Given the description of an element on the screen output the (x, y) to click on. 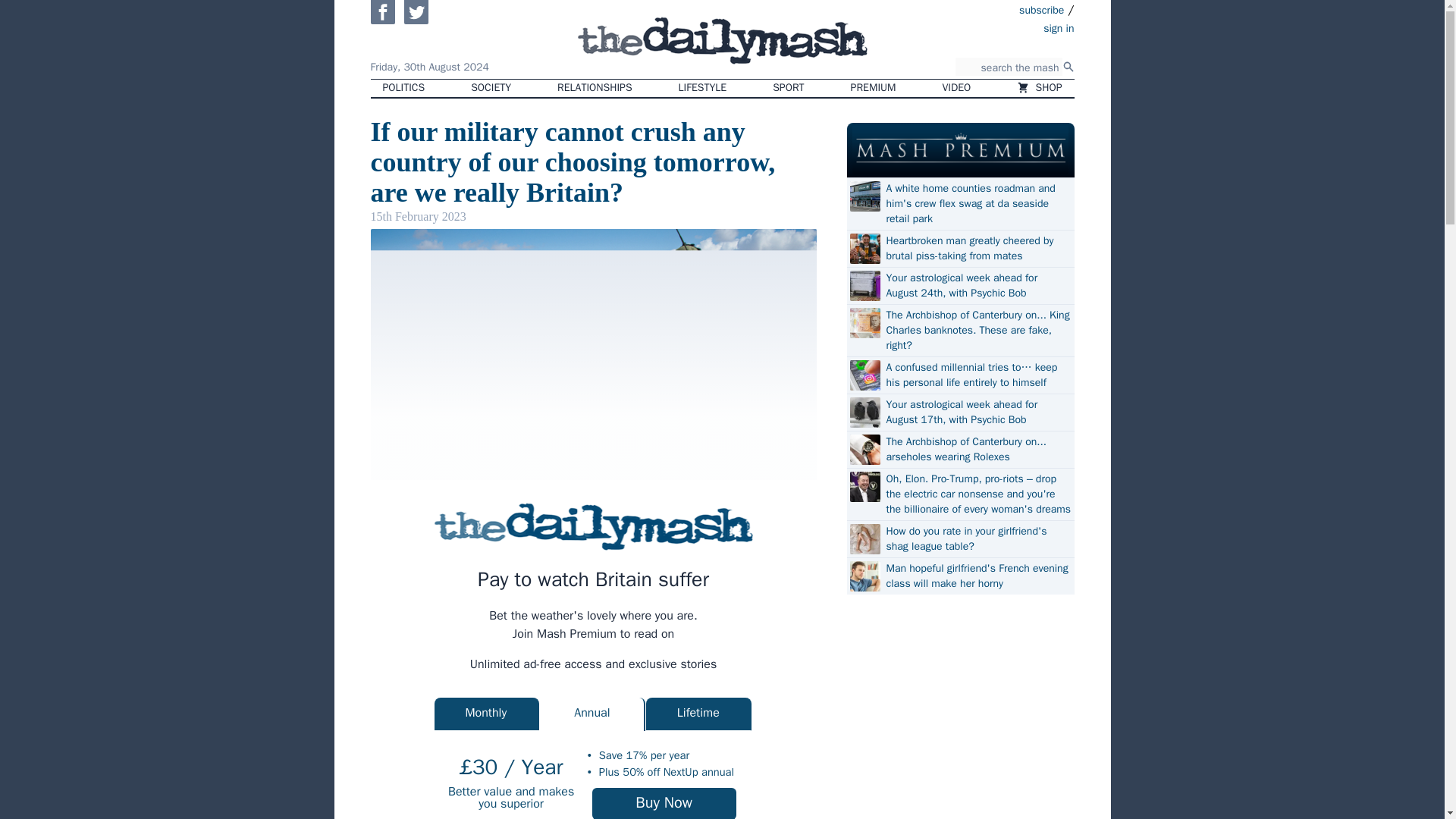
sign in (970, 27)
SOCIETY (490, 88)
SHOP (1039, 88)
POLITICS (402, 88)
PREMIUM (873, 88)
SPORT (787, 88)
